Given the description of an element on the screen output the (x, y) to click on. 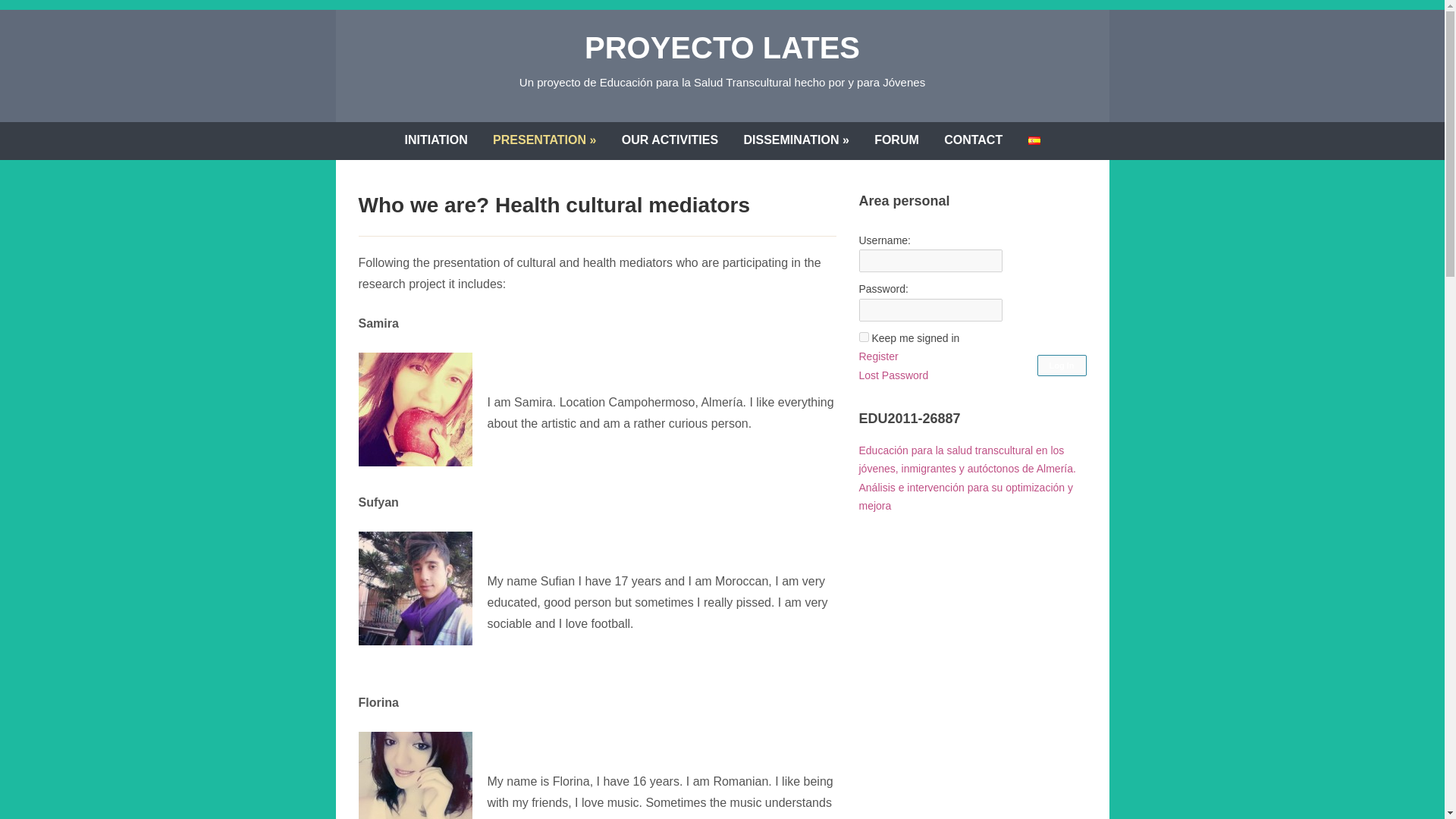
Log In (1061, 364)
FORUM (896, 140)
CONTACT (973, 140)
INITIATION (436, 140)
Register (878, 356)
Register (878, 356)
Lost Password (893, 375)
forever (863, 337)
PROYECTO LATES (722, 47)
Lost Password (893, 375)
OUR ACTIVITIES (669, 140)
